Given the description of an element on the screen output the (x, y) to click on. 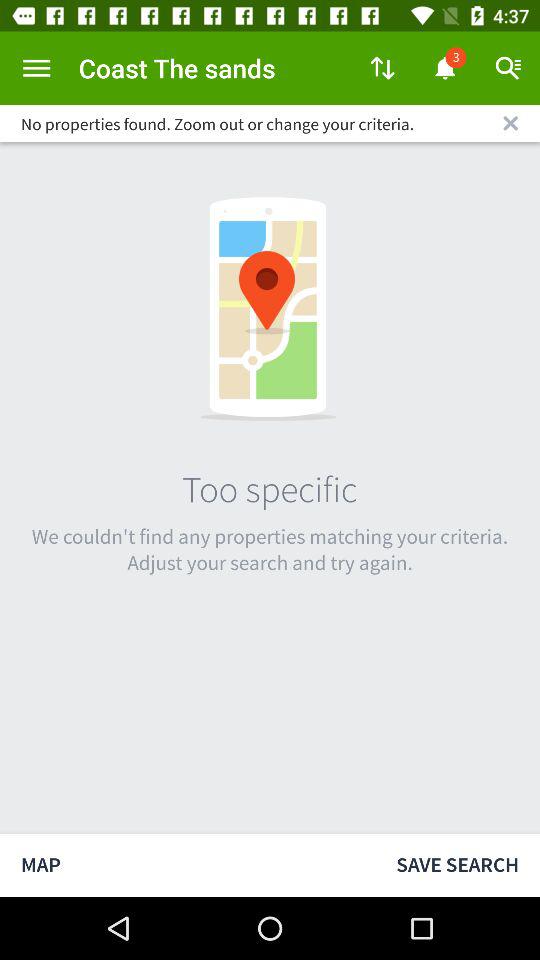
tap icon at the bottom right corner (457, 864)
